Given the description of an element on the screen output the (x, y) to click on. 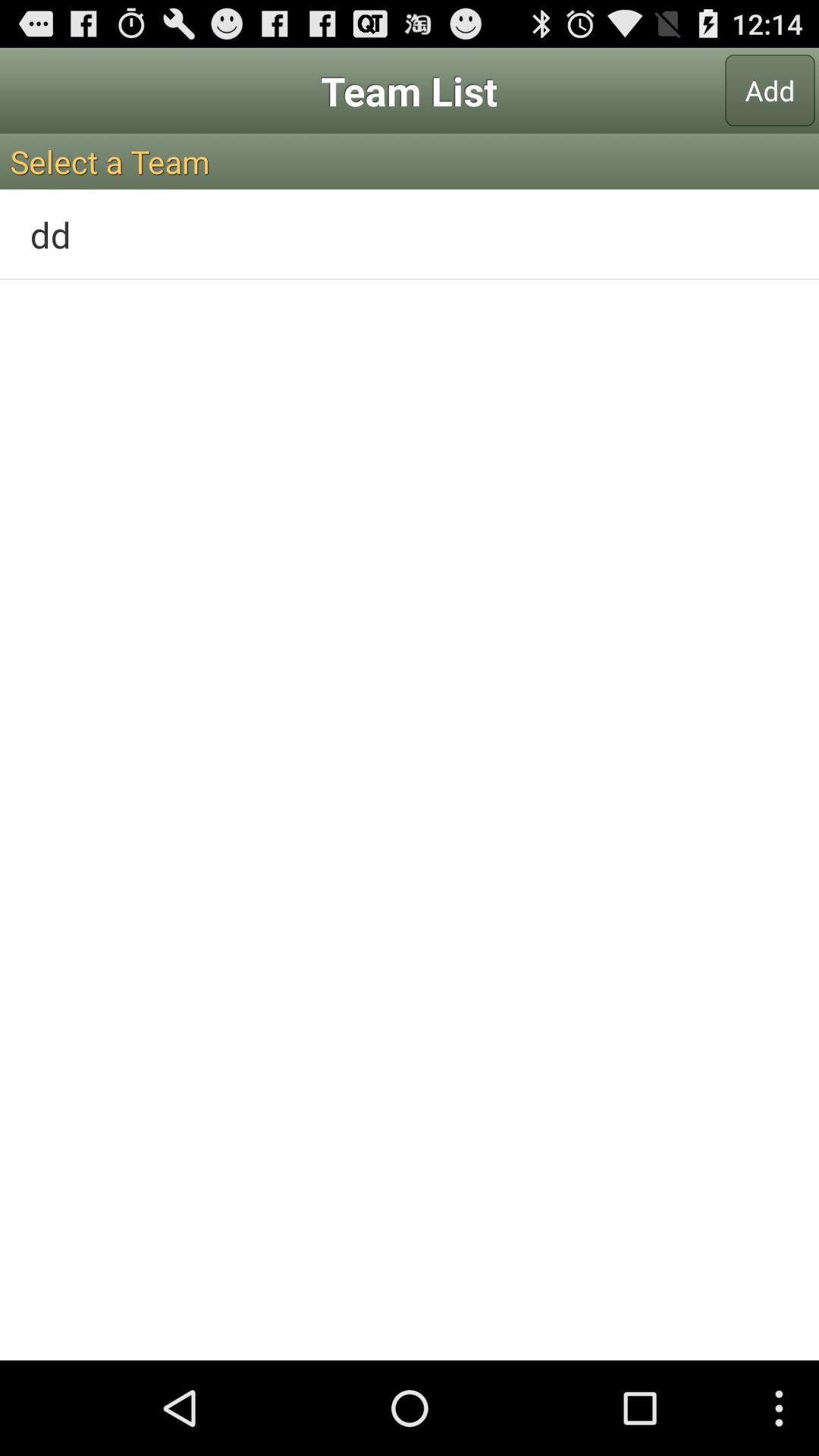
tap item below select a team app (409, 234)
